Given the description of an element on the screen output the (x, y) to click on. 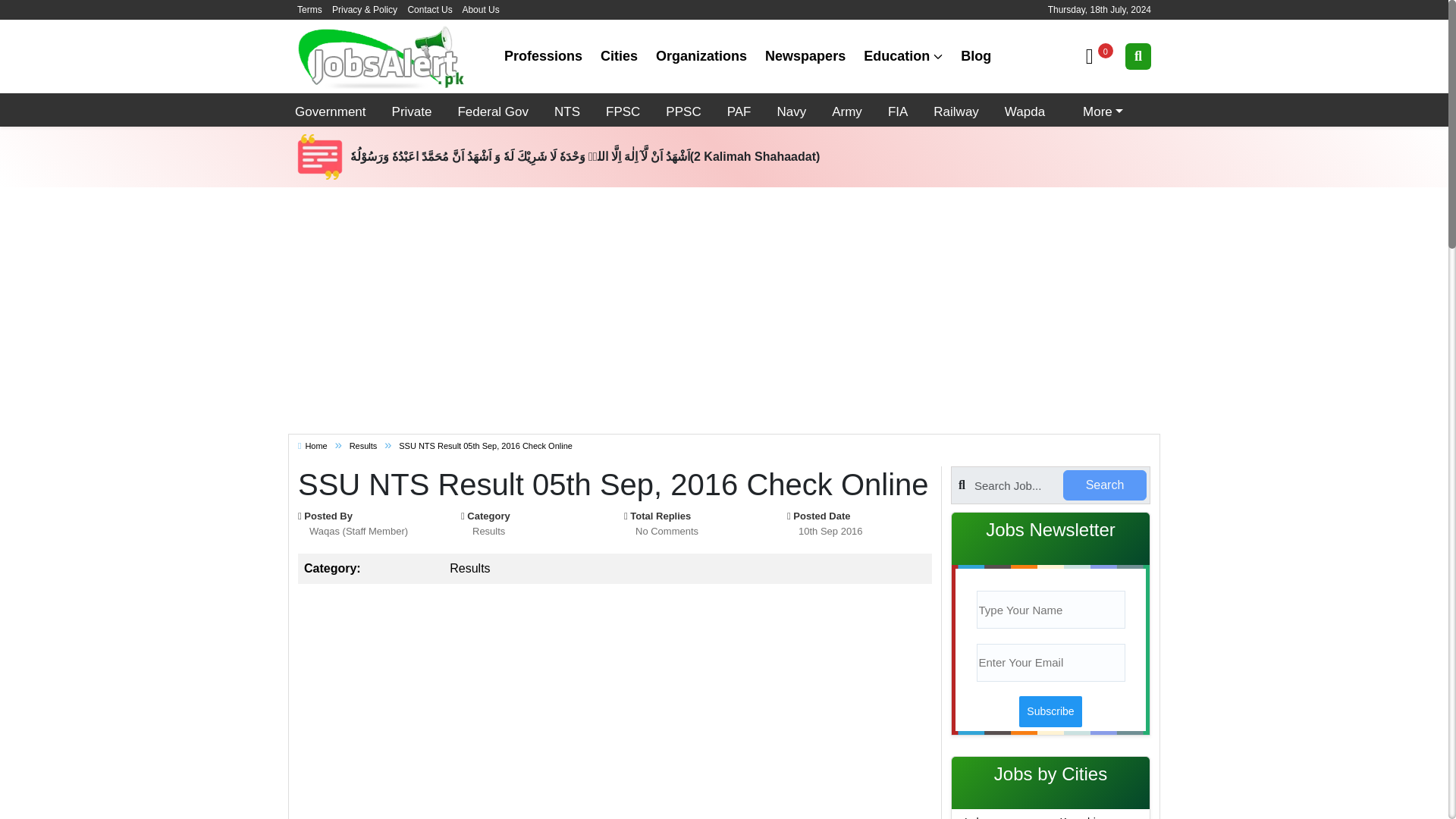
Newspapers (804, 56)
Wapda Jobs (1024, 109)
Government Jobs (330, 109)
Cities (618, 56)
Pakistan Navy Jobs (791, 109)
Federal Public Service Commission Jobs (622, 109)
Pakistan Railway Jobs (955, 109)
Blog (976, 56)
National Testing Service Jobs (566, 109)
Federal Jobs (492, 109)
Professions (543, 56)
Contact Us (429, 9)
Subscribe (1050, 711)
Pakistan Air Force Jobs (739, 109)
